Given the description of an element on the screen output the (x, y) to click on. 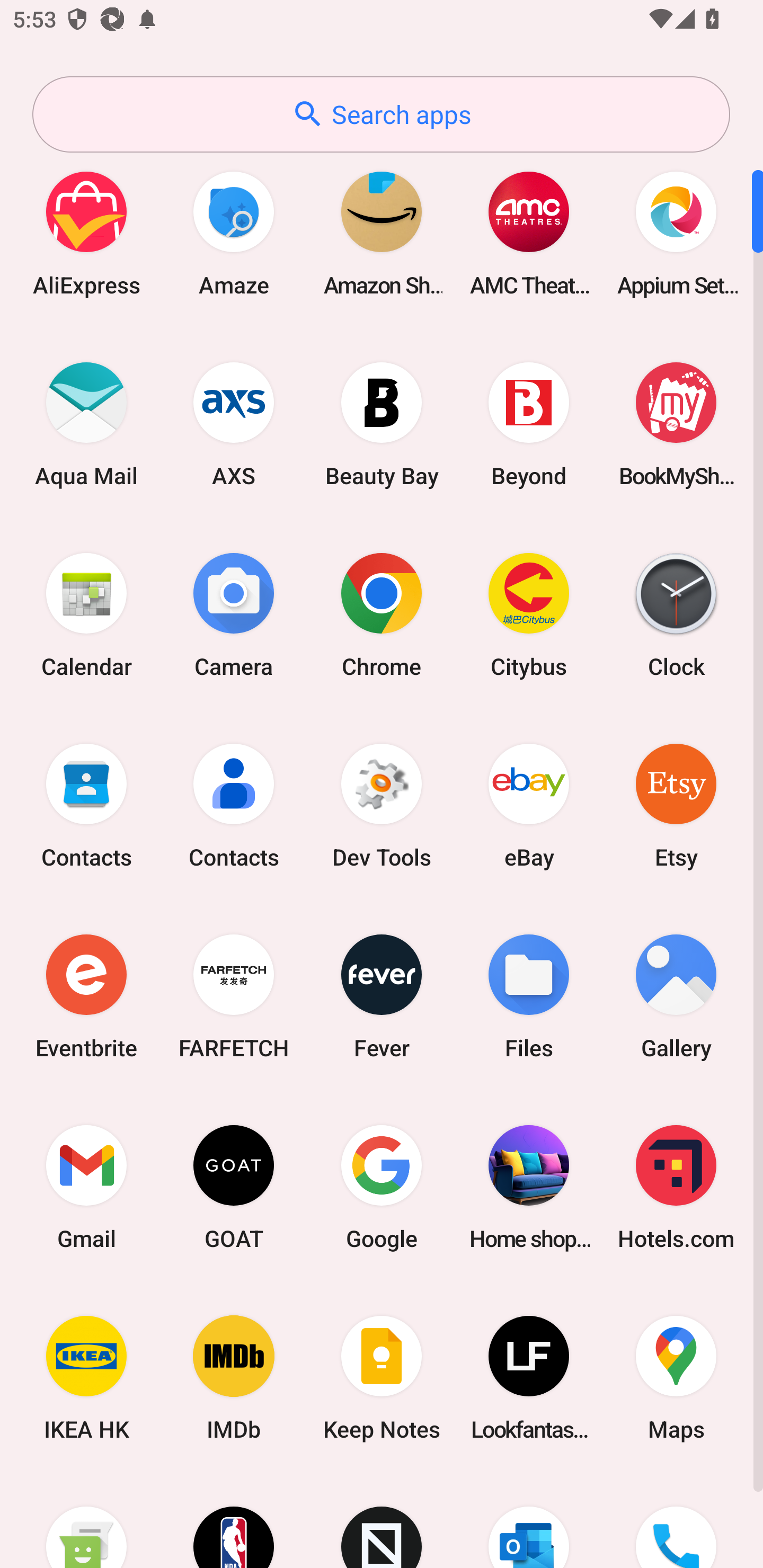
  Search apps (381, 114)
AliExpress (86, 233)
Amaze (233, 233)
Amazon Shopping (381, 233)
AMC Theatres (528, 233)
Appium Settings (676, 233)
Aqua Mail (86, 424)
AXS (233, 424)
Beauty Bay (381, 424)
Beyond (528, 424)
BookMyShow (676, 424)
Calendar (86, 614)
Camera (233, 614)
Chrome (381, 614)
Citybus (528, 614)
Clock (676, 614)
Contacts (86, 805)
Contacts (233, 805)
Dev Tools (381, 805)
eBay (528, 805)
Etsy (676, 805)
Eventbrite (86, 996)
FARFETCH (233, 996)
Fever (381, 996)
Files (528, 996)
Gallery (676, 996)
Gmail (86, 1186)
GOAT (233, 1186)
Google (381, 1186)
Home shopping (528, 1186)
Hotels.com (676, 1186)
IKEA HK (86, 1377)
IMDb (233, 1377)
Keep Notes (381, 1377)
Lookfantastic (528, 1377)
Maps (676, 1377)
